Given the description of an element on the screen output the (x, y) to click on. 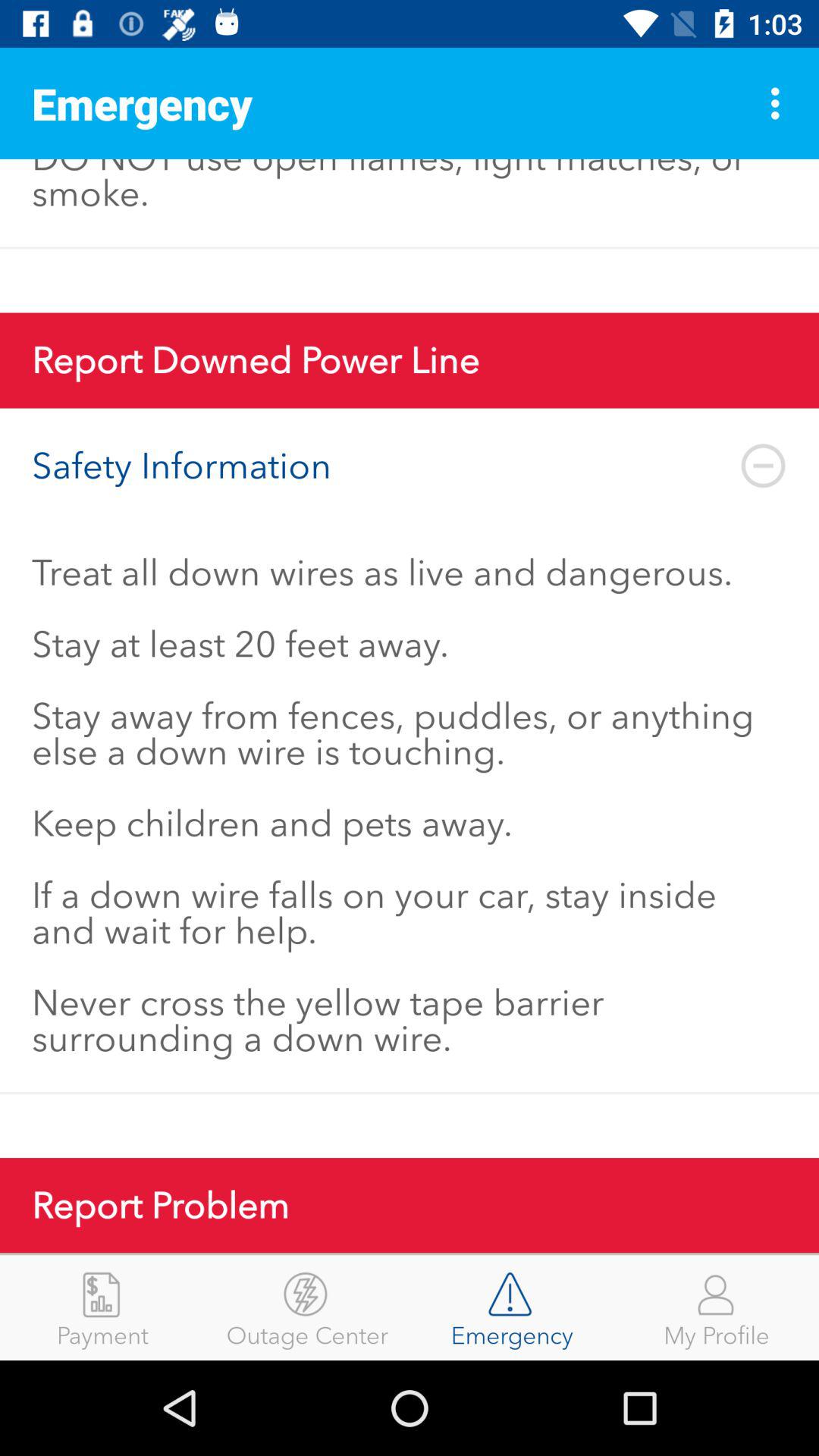
open the icon to the right of payment icon (306, 1307)
